Given the description of an element on the screen output the (x, y) to click on. 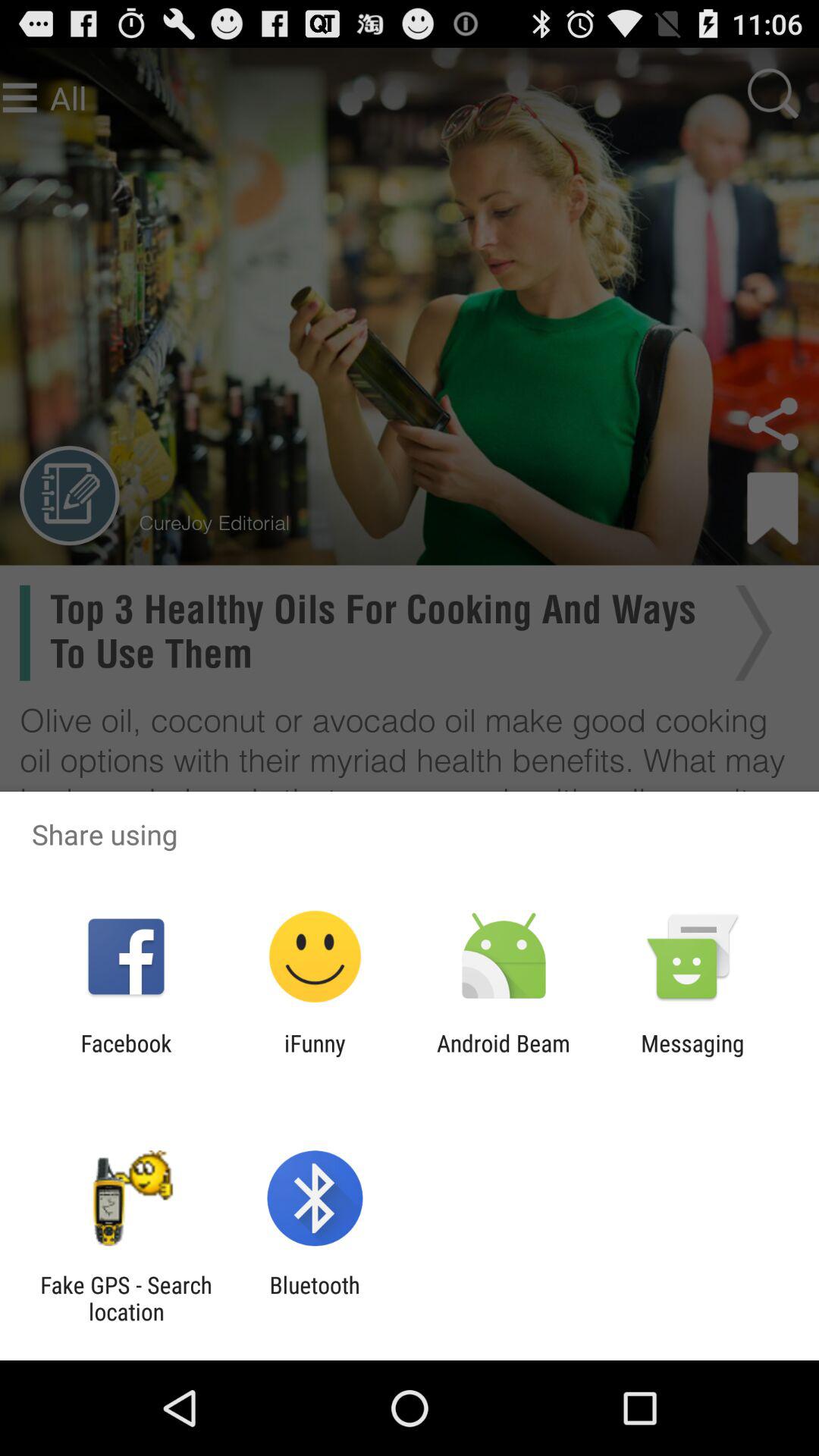
open app next to the ifunny (125, 1056)
